Given the description of an element on the screen output the (x, y) to click on. 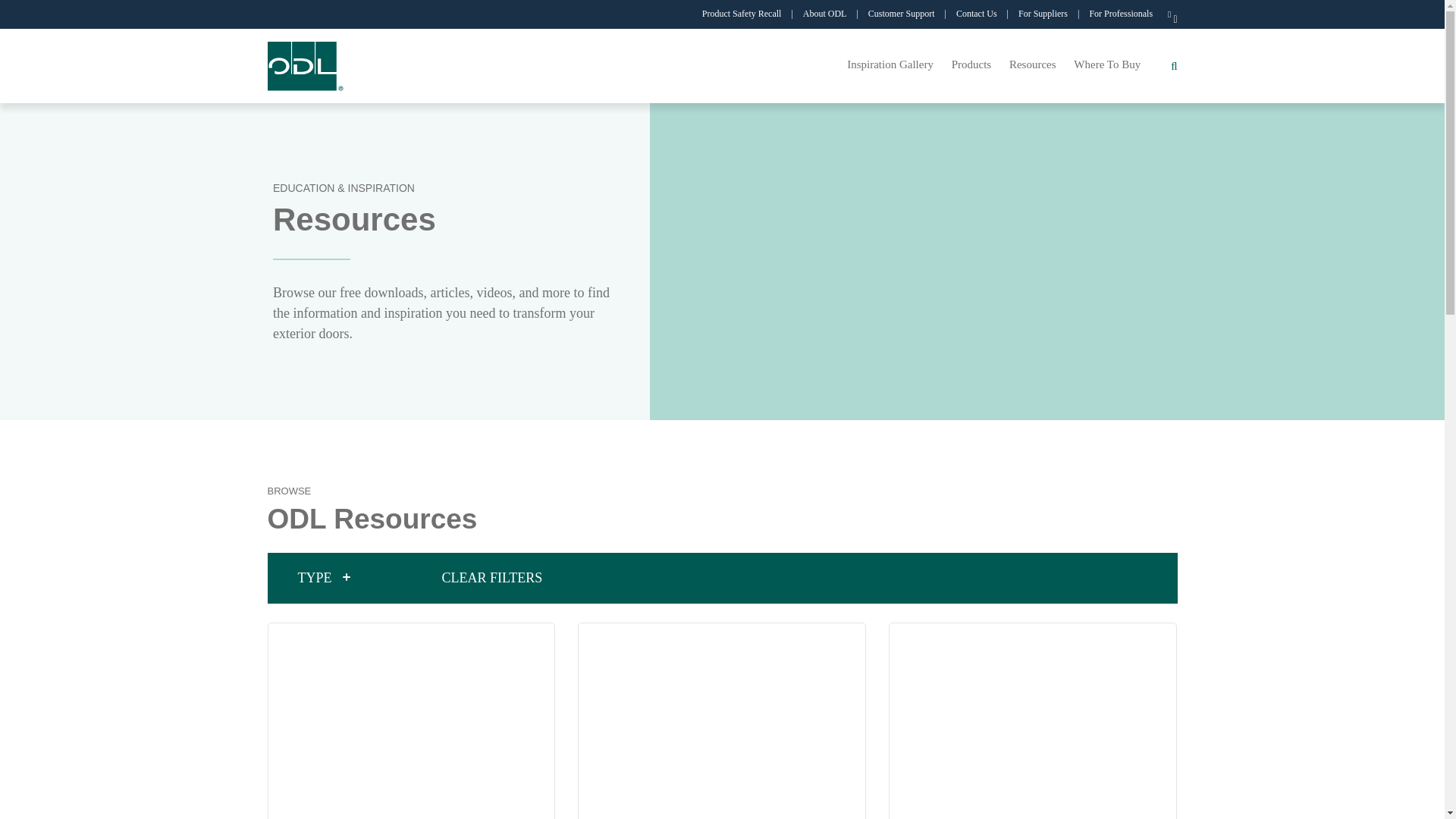
About ODL (834, 13)
Resources (1032, 64)
For Professionals (1128, 13)
Product Safety Recall (750, 13)
Products (970, 64)
ODL-logo-RGB (304, 65)
Customer Support (910, 13)
For Suppliers (1051, 13)
Contact Us (986, 13)
Inspiration Gallery (890, 64)
